Given the description of an element on the screen output the (x, y) to click on. 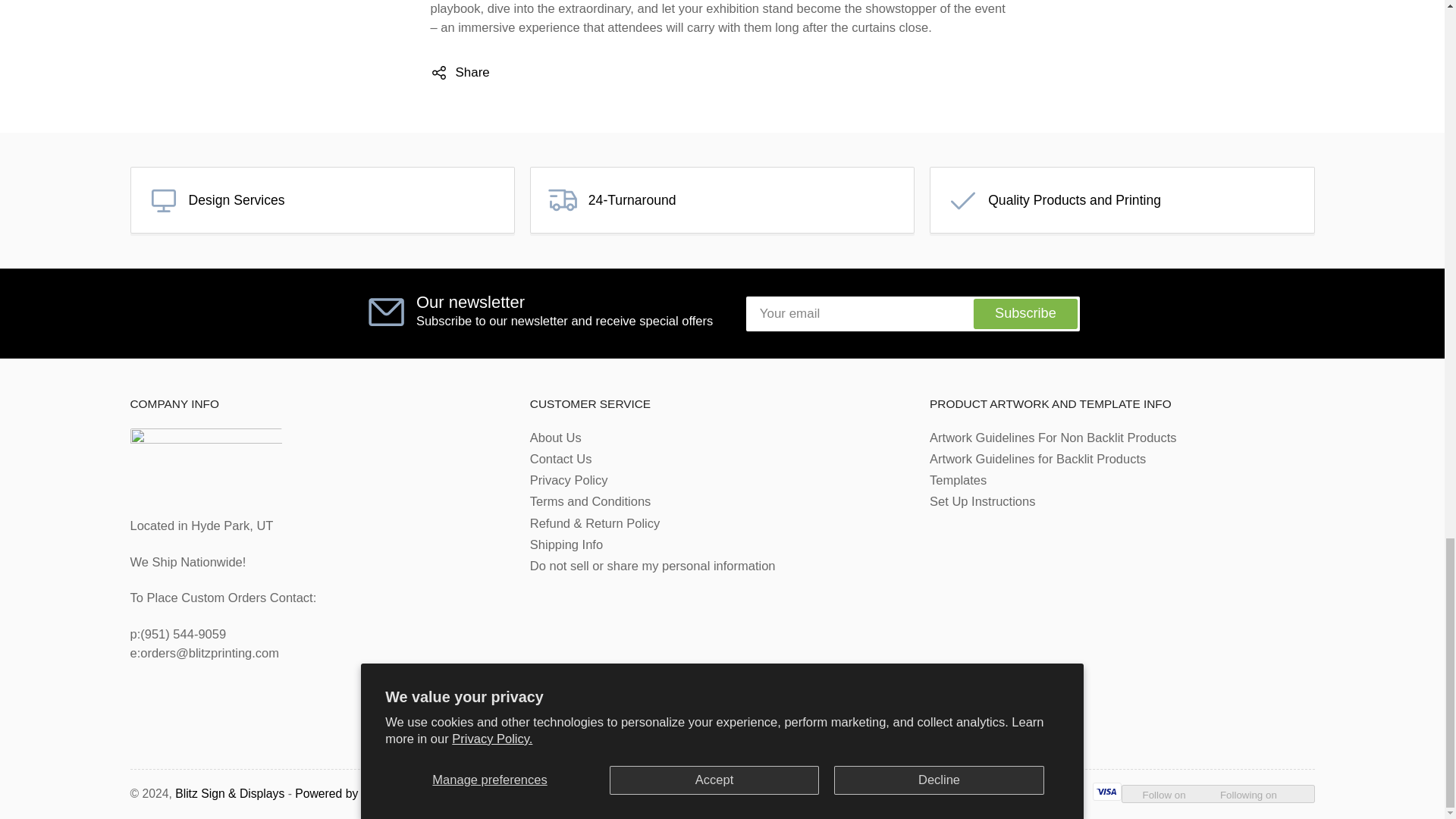
Apple Pay (696, 791)
American Express (651, 791)
